Given the description of an element on the screen output the (x, y) to click on. 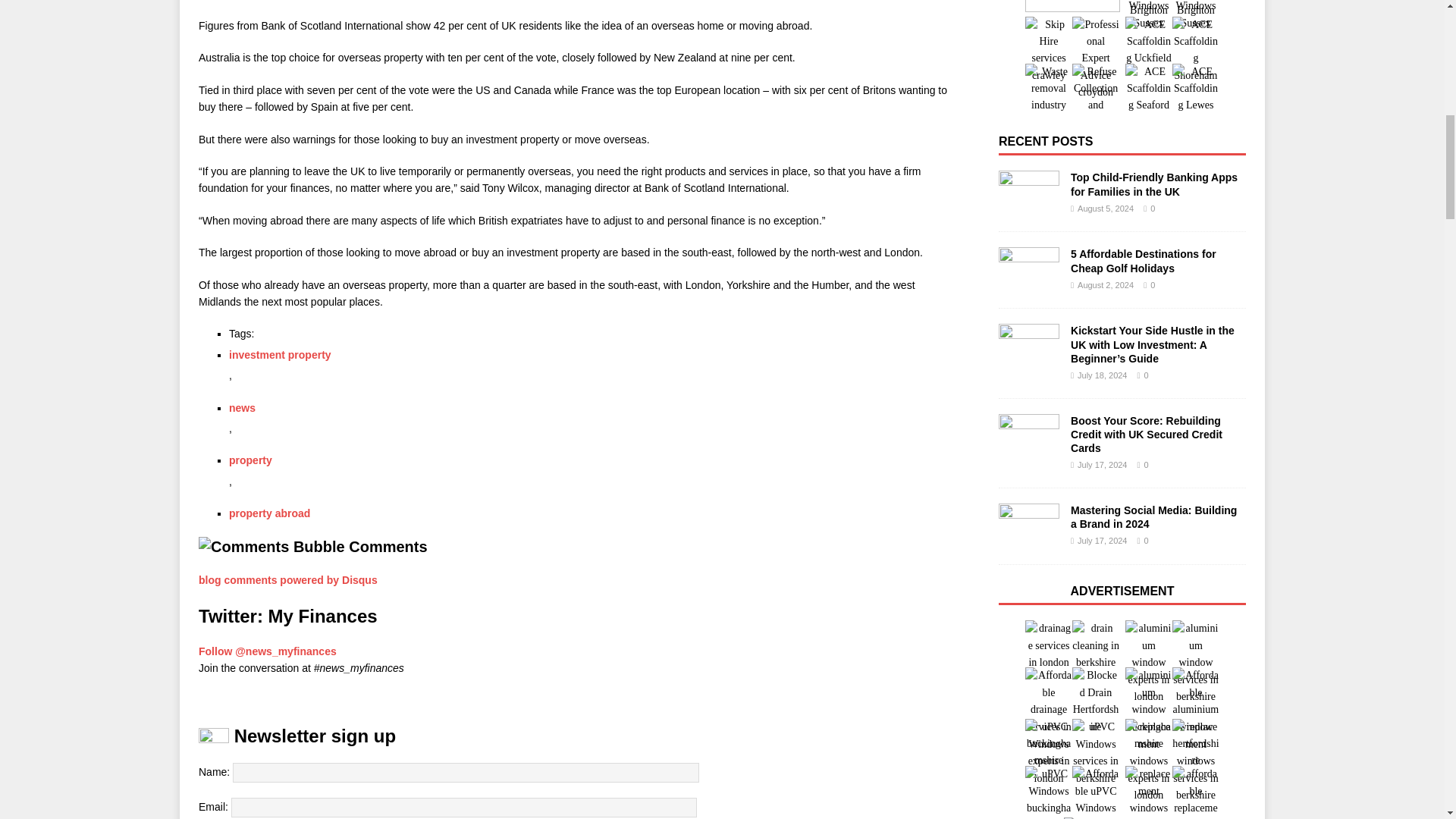
property abroad (269, 512)
5 Affordable Destinations for Cheap Golf Holidays (1142, 260)
property (250, 460)
Top Child-Friendly Banking Apps for Families in the UK (1153, 184)
news (242, 408)
investment property (279, 354)
5 Affordable Destinations for Cheap Golf Holidays (1028, 269)
Top Child-Friendly Banking Apps for Families in the UK (1028, 193)
